Given the description of an element on the screen output the (x, y) to click on. 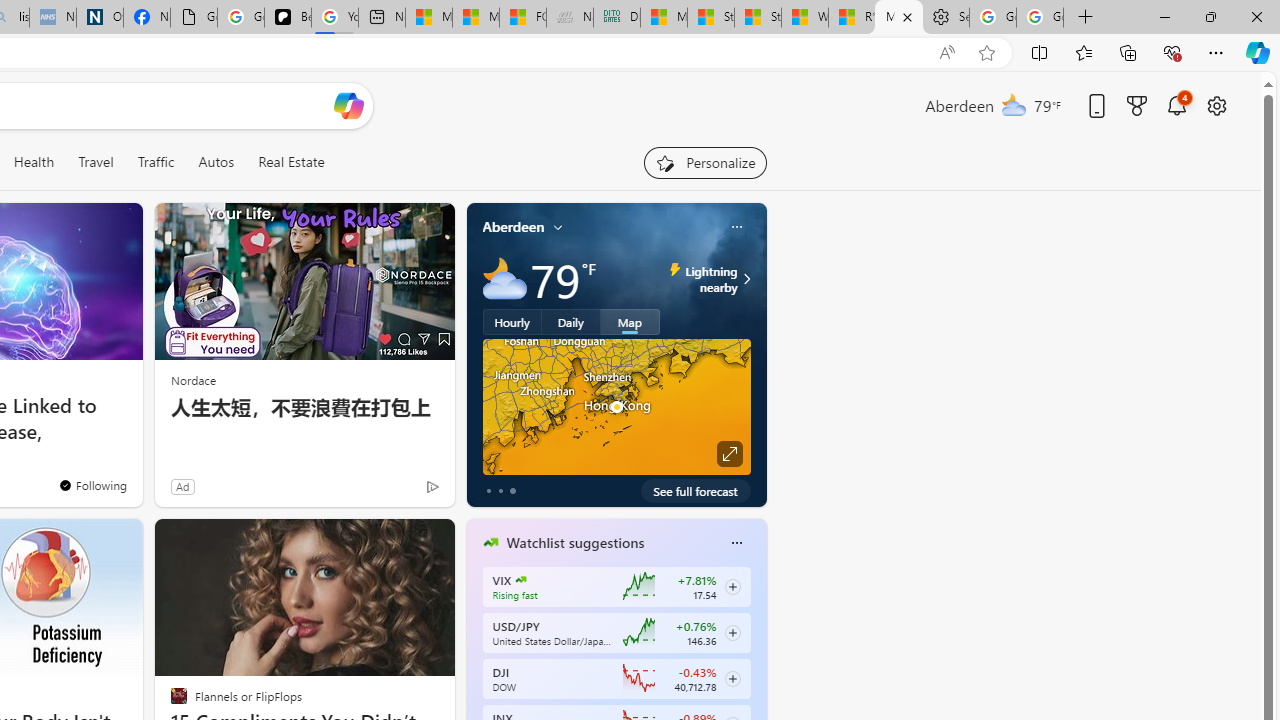
Autos (216, 162)
tab-1 (500, 490)
Health (33, 162)
Autos (215, 161)
Google Analytics Opt-out Browser Add-on Download Page (194, 17)
Mostly cloudy (504, 278)
Real Estate (291, 161)
See full forecast (695, 490)
